Given the description of an element on the screen output the (x, y) to click on. 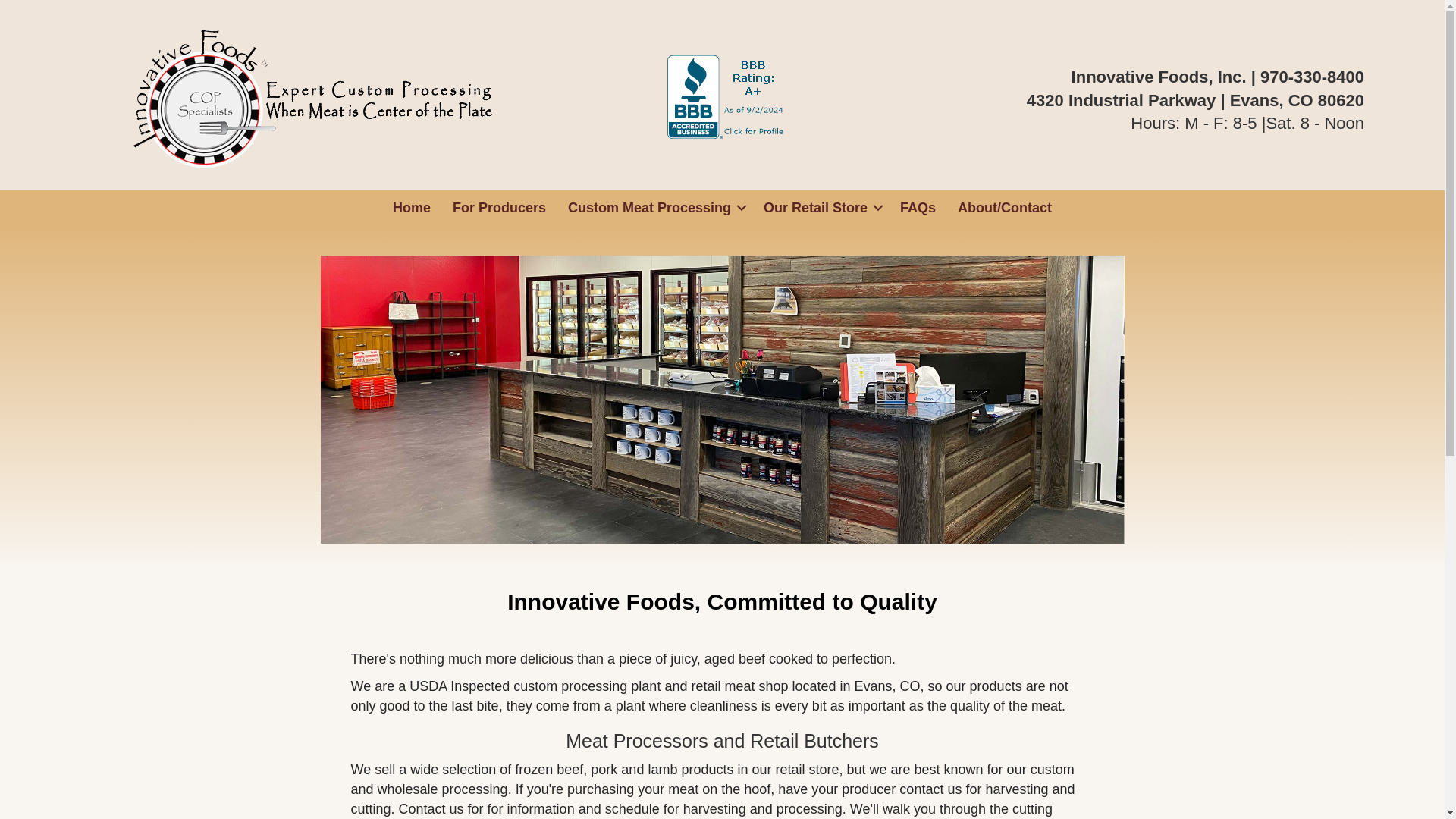
FAQs (917, 207)
Home (411, 207)
Our Retail Store (820, 207)
Custom Meat Processing (654, 207)
logo5cn-1 (321, 96)
For Producers (499, 207)
